Given the description of an element on the screen output the (x, y) to click on. 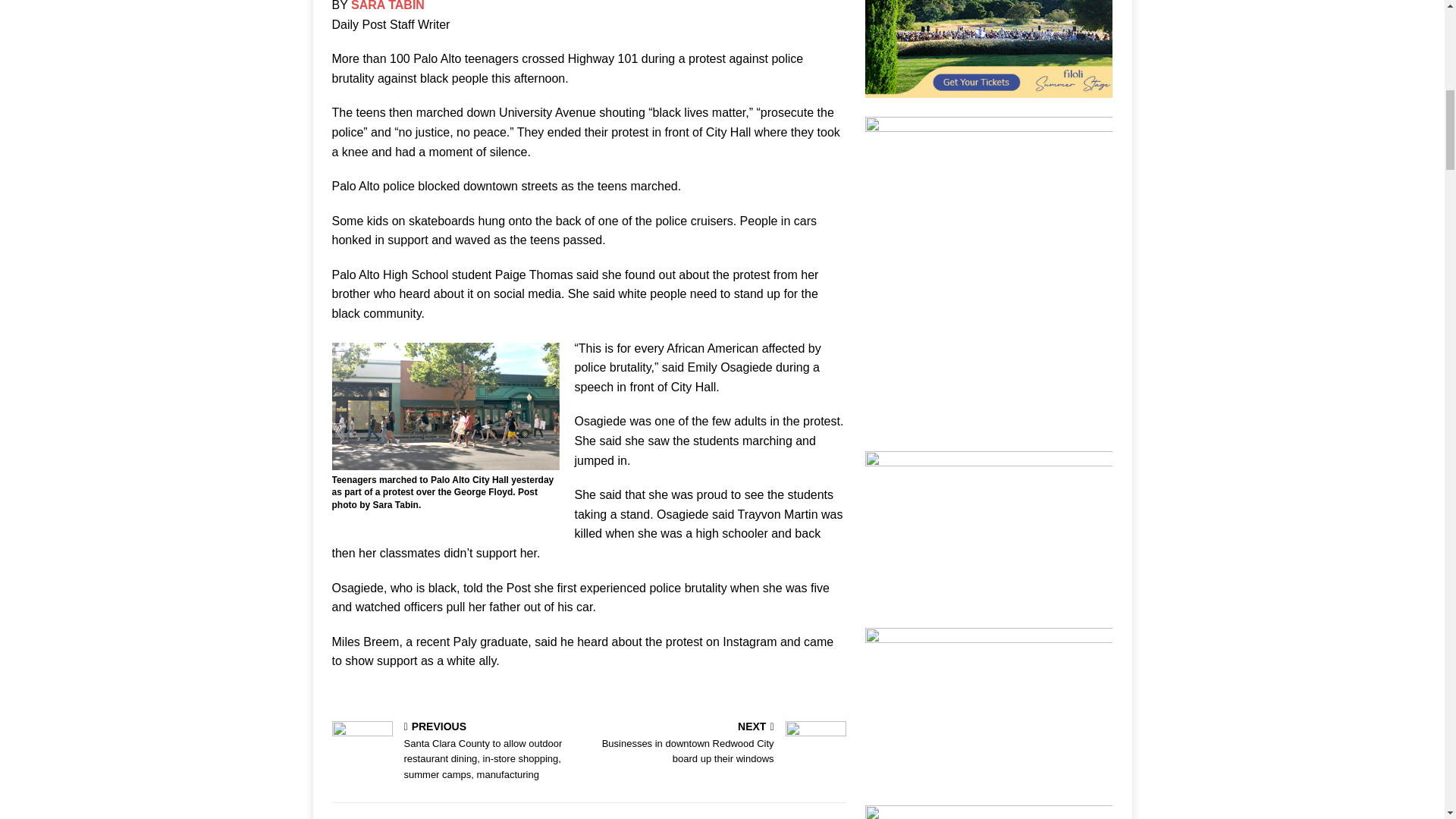
SARA TABIN (387, 5)
